Given the description of an element on the screen output the (x, y) to click on. 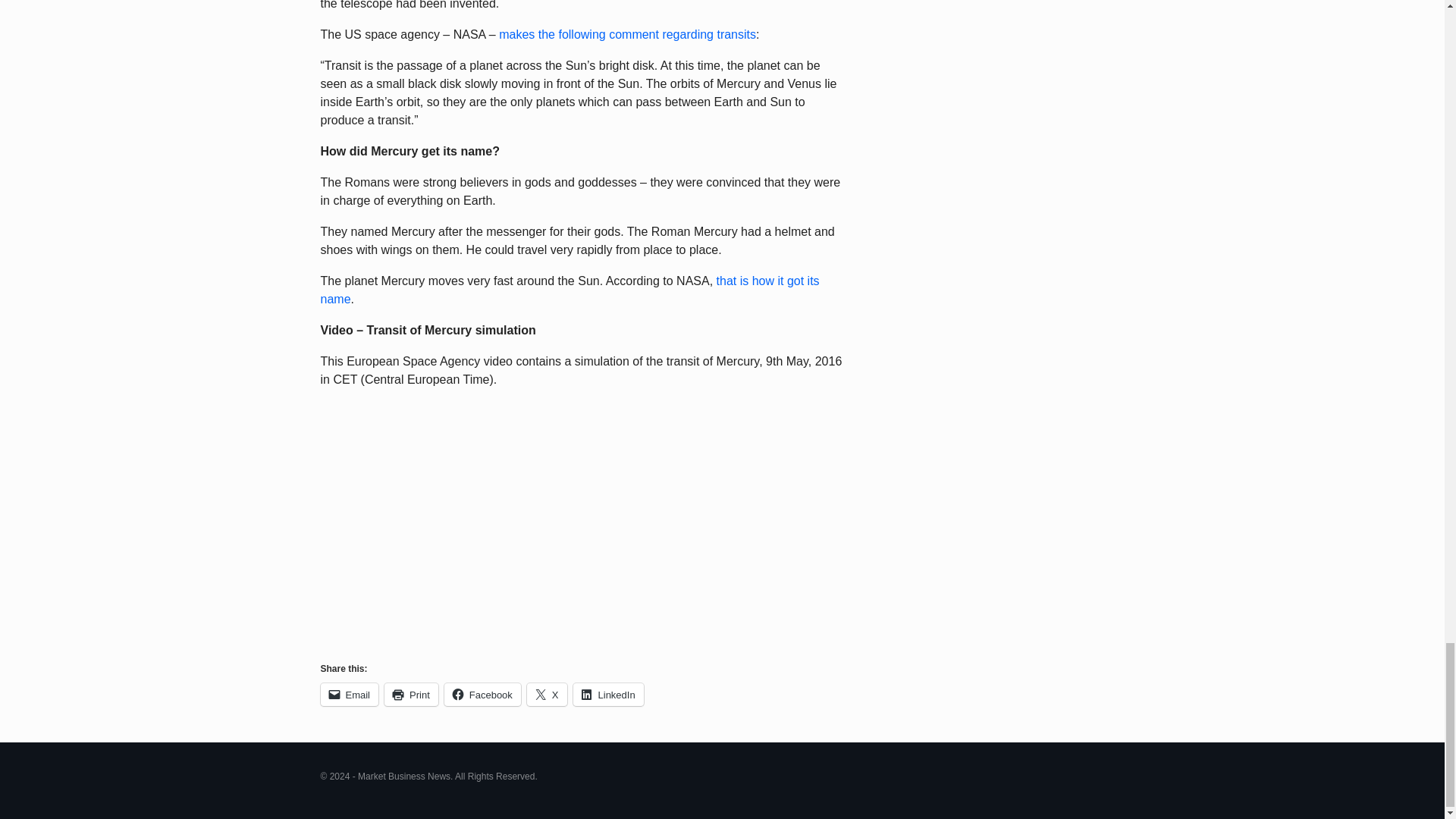
Click to print (411, 694)
Click to share on X (547, 694)
Print (411, 694)
Facebook (482, 694)
Click to email a link to a friend (349, 694)
Click to share on Facebook (482, 694)
X (547, 694)
that is how it got its name (569, 289)
LinkedIn (608, 694)
Click to share on LinkedIn (608, 694)
